Given the description of an element on the screen output the (x, y) to click on. 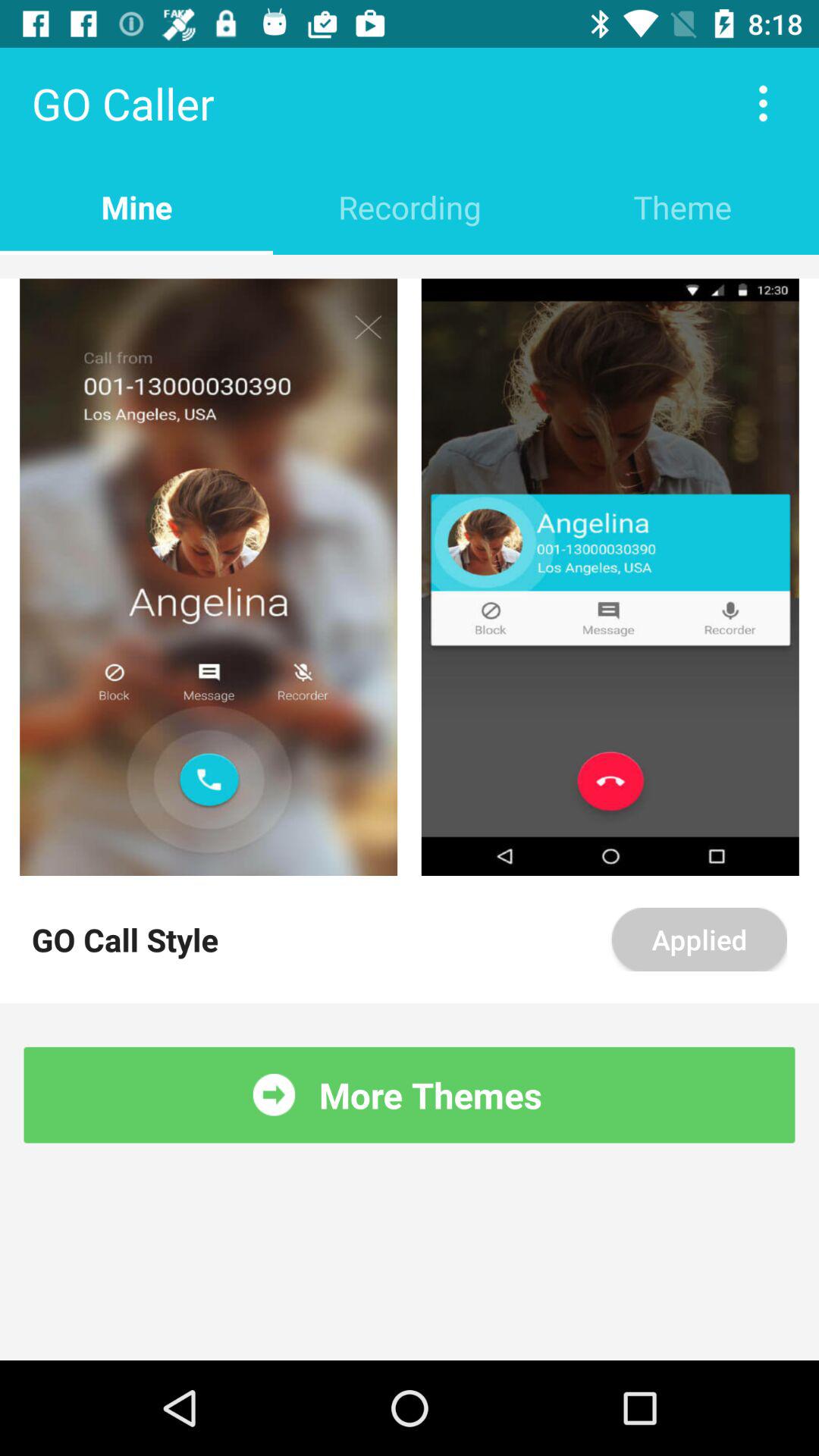
select icon next to go caller icon (763, 103)
